Given the description of an element on the screen output the (x, y) to click on. 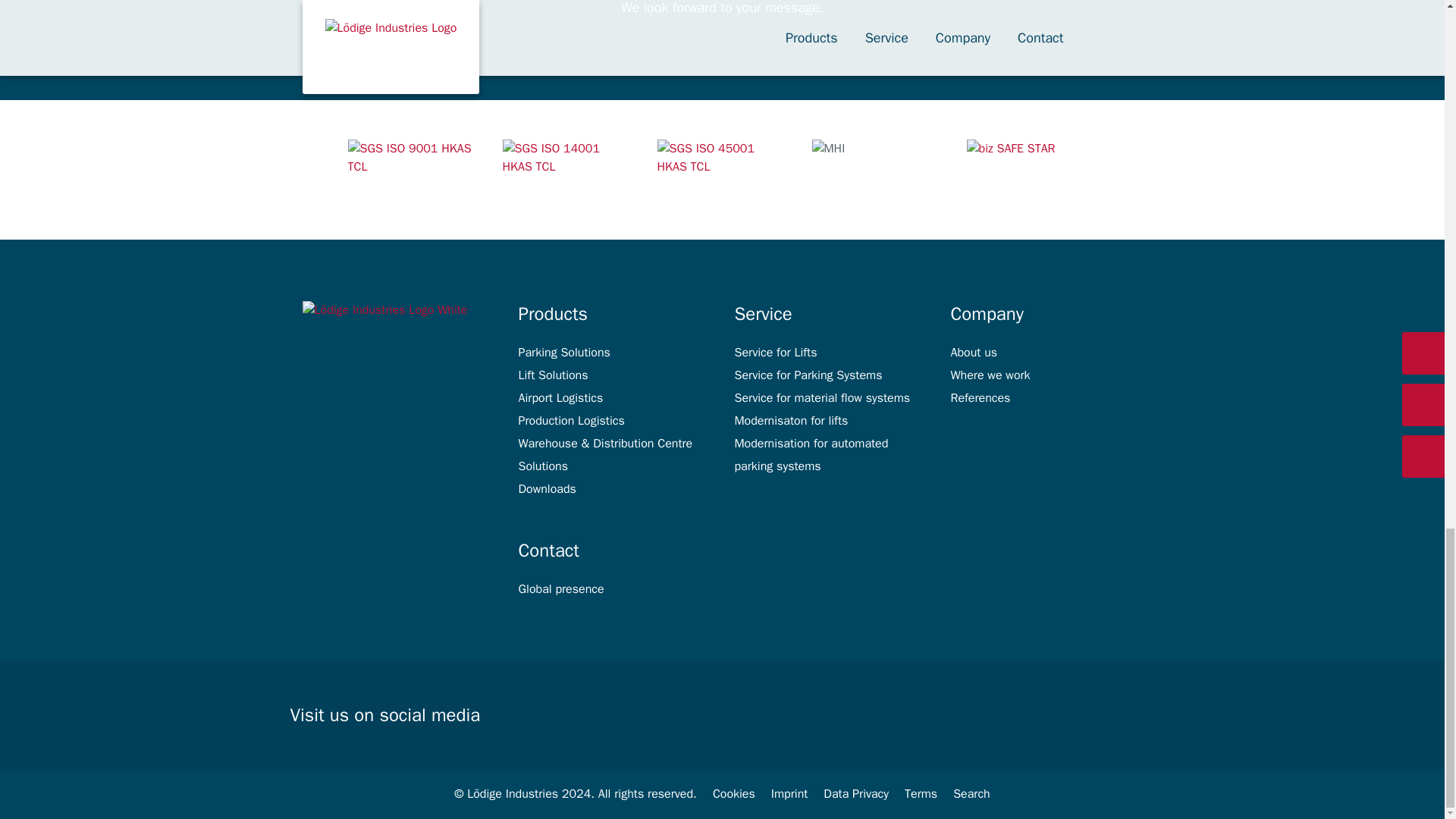
SGS ISO 9001 HKAS TCL (412, 169)
SGS ISO 45001 HKAS TCL (721, 169)
biz SAFE STAR (1031, 169)
SGS ISO 14001 HKAS TCL (566, 169)
MHI (876, 169)
